Given the description of an element on the screen output the (x, y) to click on. 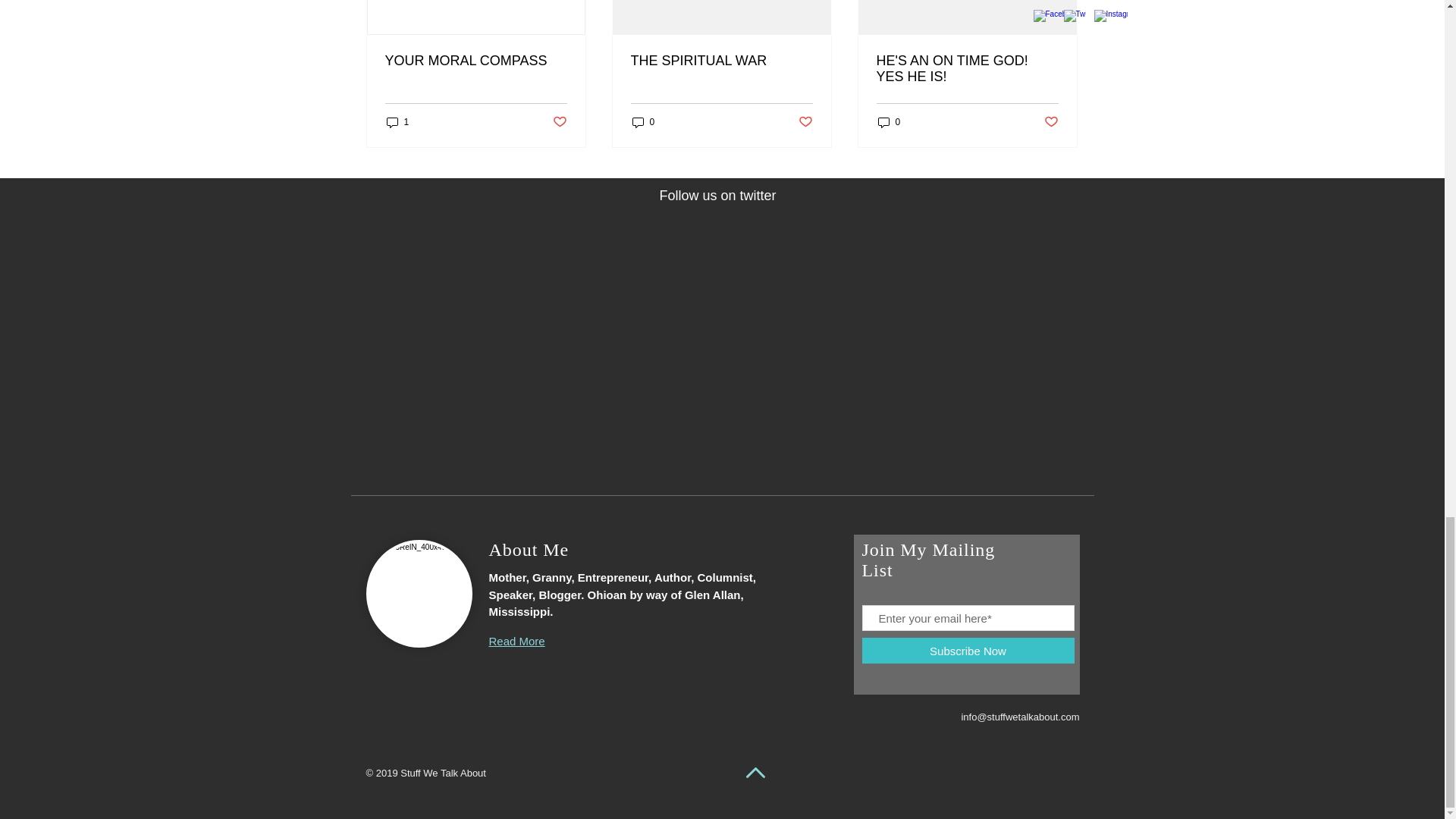
HE'S AN ON TIME GOD! YES HE IS! (967, 69)
1 (397, 122)
Post not marked as liked (558, 121)
YOUR MORAL COMPASS (476, 60)
0 (889, 122)
0 (643, 122)
THE SPIRITUAL WAR (721, 60)
Post not marked as liked (804, 121)
